Given the description of an element on the screen output the (x, y) to click on. 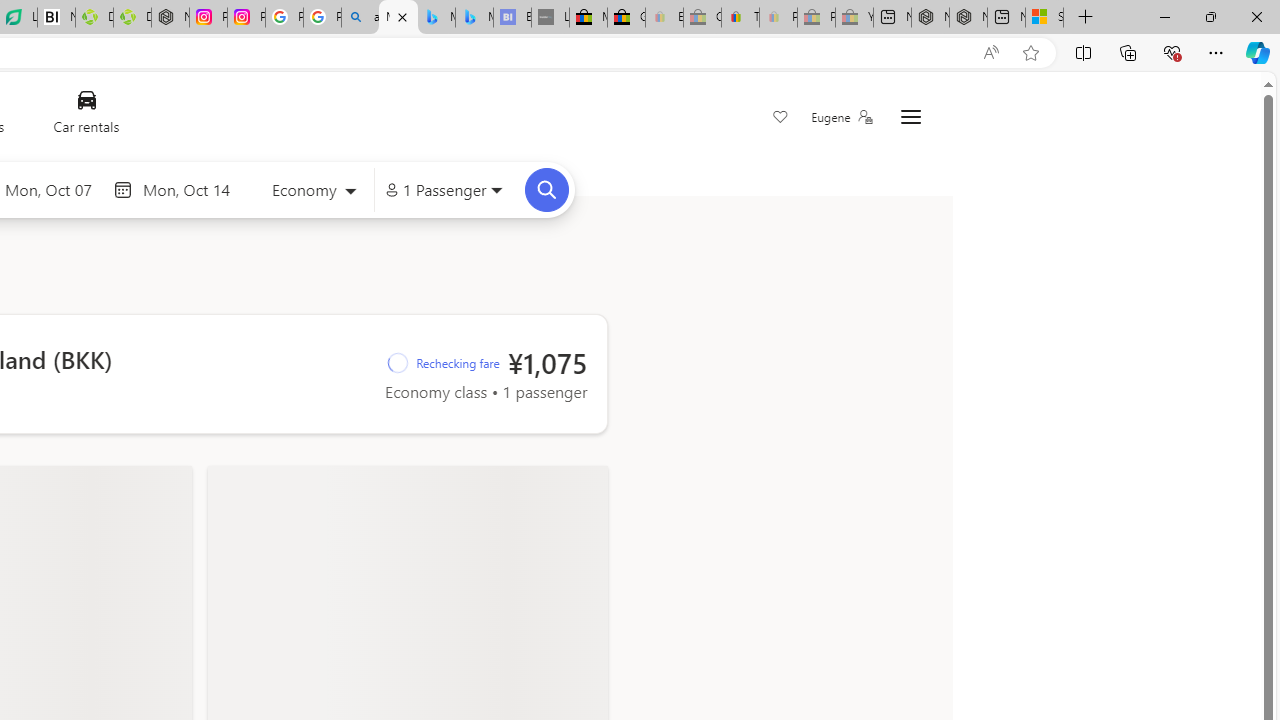
Nordace - Summer Adventures 2024 (967, 17)
Microsoft Bing Travel - Shangri-La Hotel Bangkok (473, 17)
alabama high school quarterback dies - Search (359, 17)
1 Passenger (443, 189)
Nvidia va a poner a prueba la paciencia de los inversores (56, 17)
End date (191, 189)
Select class of service (313, 192)
